Given the description of an element on the screen output the (x, y) to click on. 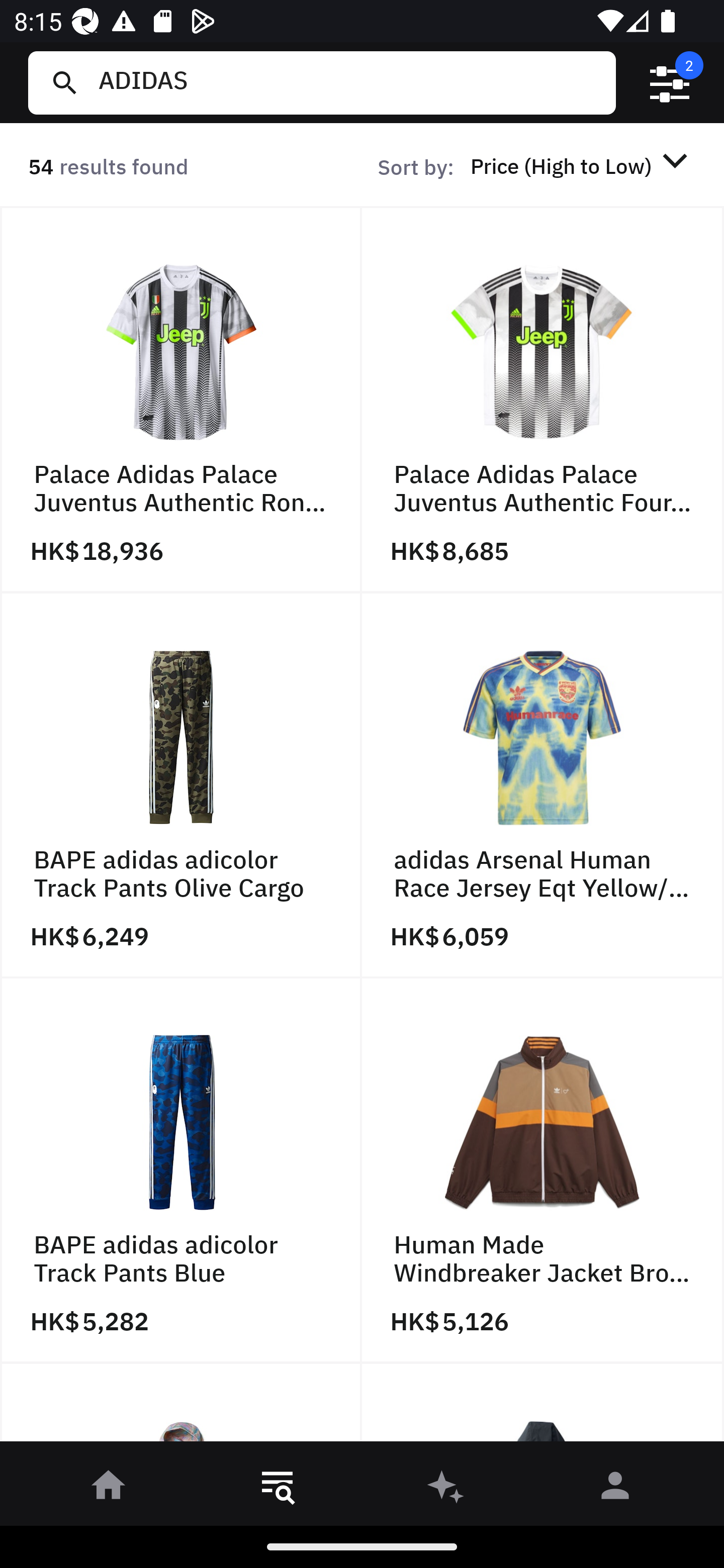
ADIDAS (349, 82)
 (669, 82)
Price (High to Low)  (582, 165)
BAPE adidas adicolor Track Pants Blue HK$ 5,282 (181, 1171)
Human Made Windbreaker Jacket Brown HK$ 5,126 (543, 1171)
󰋜 (108, 1488)
󱎸 (277, 1488)
󰫢 (446, 1488)
󰀄 (615, 1488)
